Given the description of an element on the screen output the (x, y) to click on. 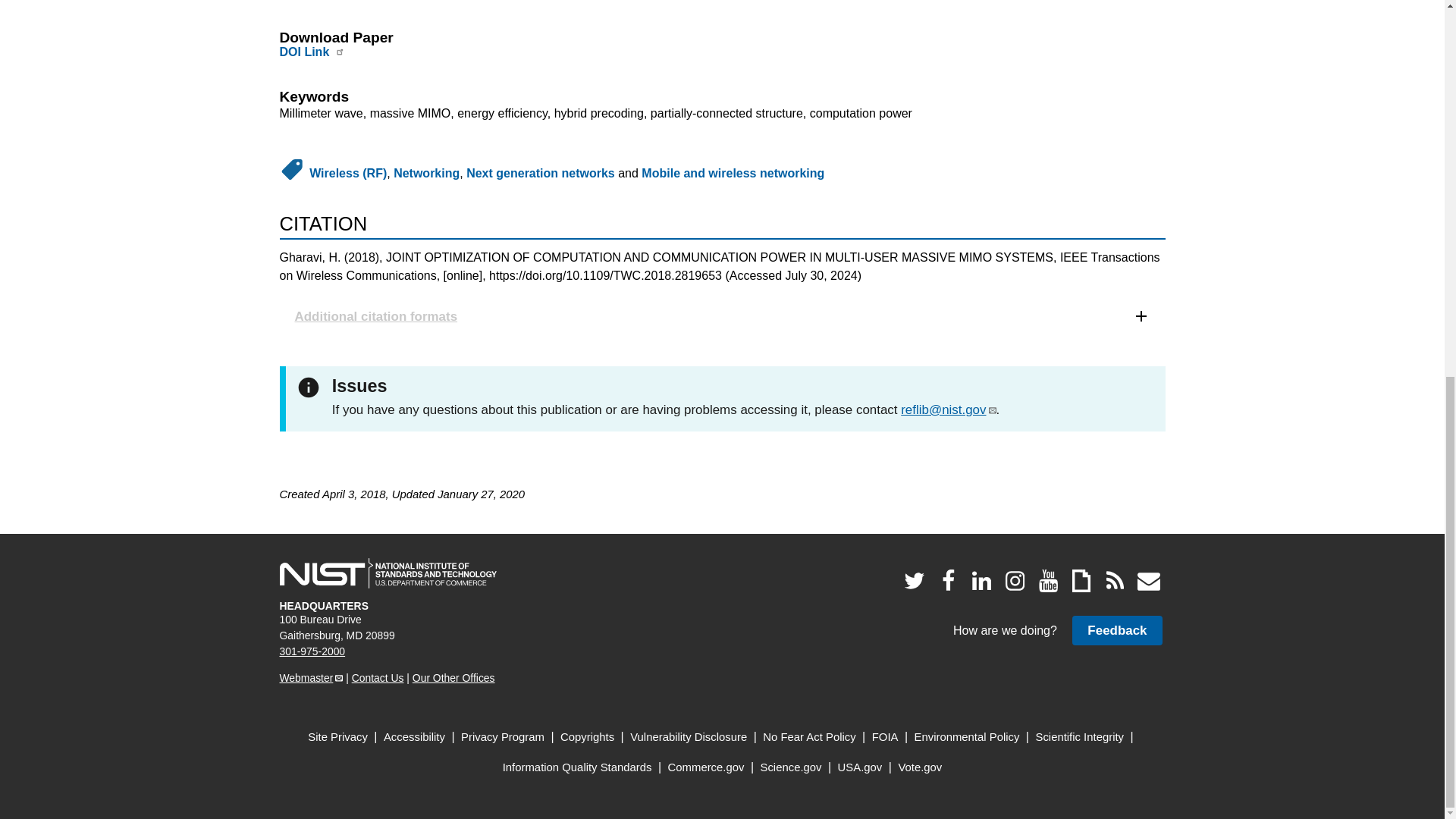
Next generation networks (539, 173)
Vulnerability Disclosure (688, 736)
Additional citation formats (721, 316)
Provide feedback (1116, 630)
Our Other Offices (453, 677)
Mobile and wireless networking (733, 173)
DOI Link (304, 51)
Accessibility (414, 736)
Privacy Program (502, 736)
Networking (426, 173)
Feedback (1116, 630)
Copyrights (587, 736)
Webmaster (310, 677)
Contact Us (378, 677)
National Institute of Standards and Technology (387, 572)
